Given the description of an element on the screen output the (x, y) to click on. 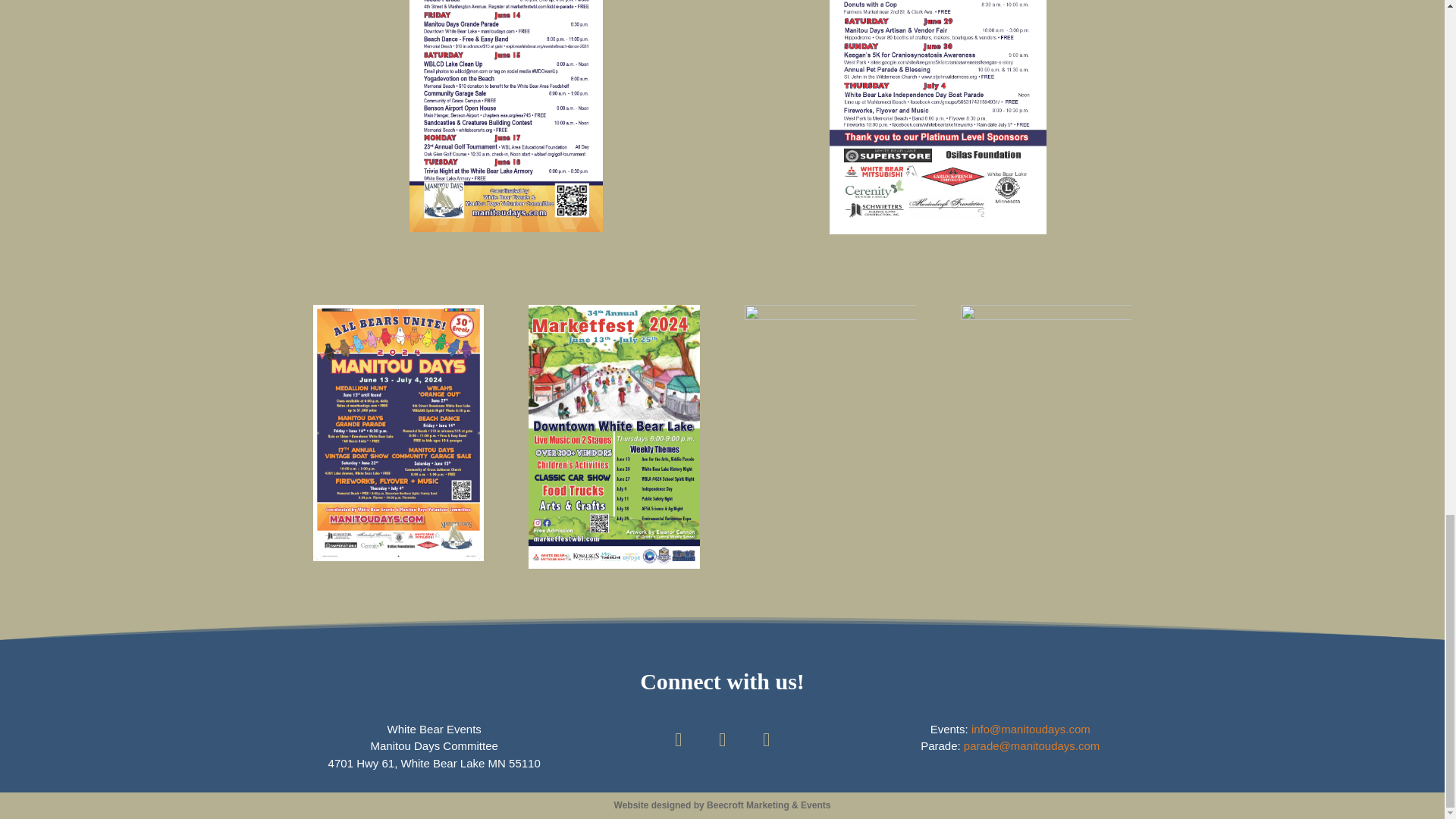
2024 Rackcard Front (937, 117)
Follow on X (722, 740)
Follow on Instagram (765, 740)
Follow on Facebook (678, 740)
